Given the description of an element on the screen output the (x, y) to click on. 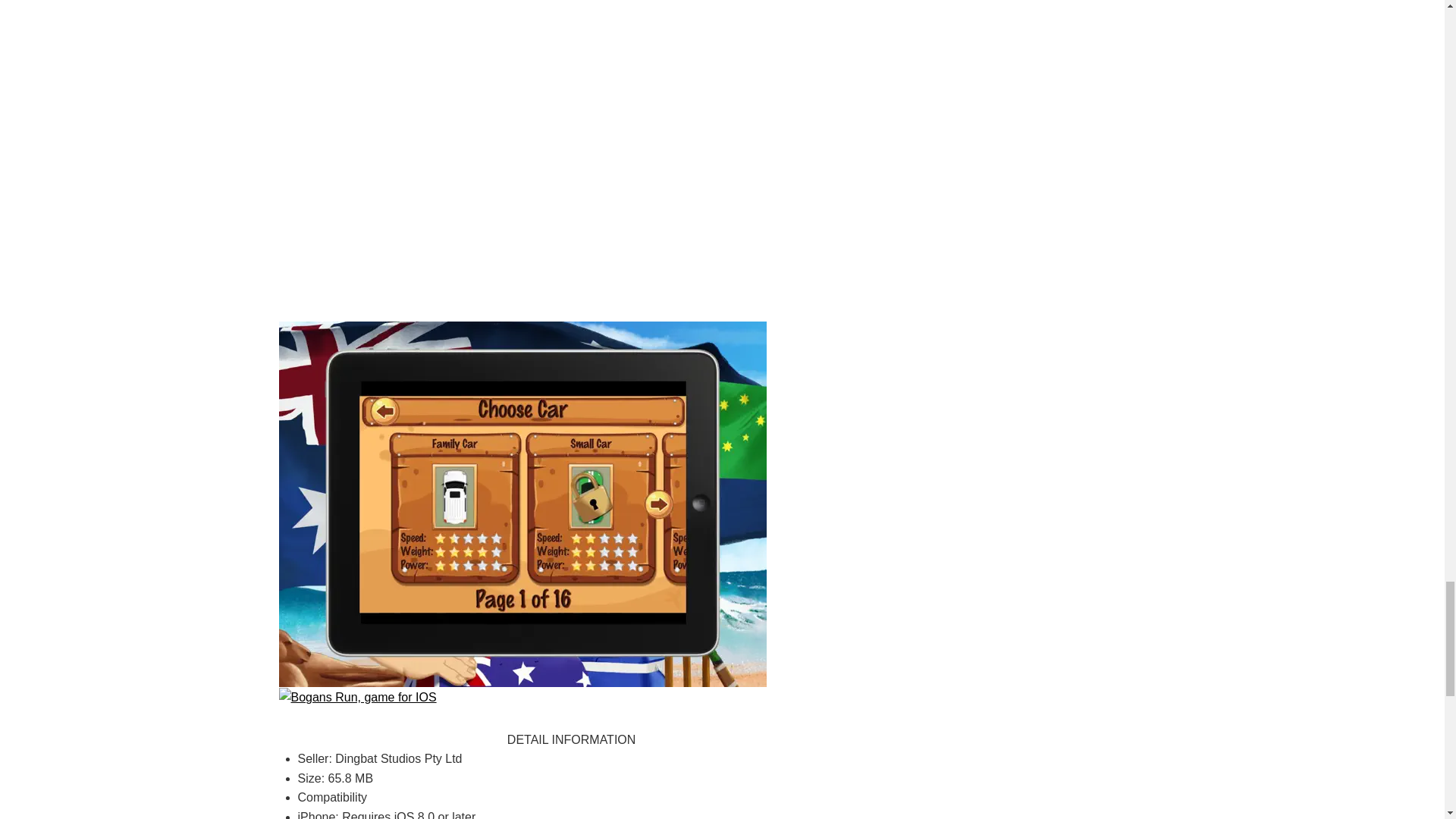
Bogans Run, game for IOS (357, 696)
Bogans Run, game for IOS (523, 502)
Bogans Run, game for IOS (523, 137)
